Given the description of an element on the screen output the (x, y) to click on. 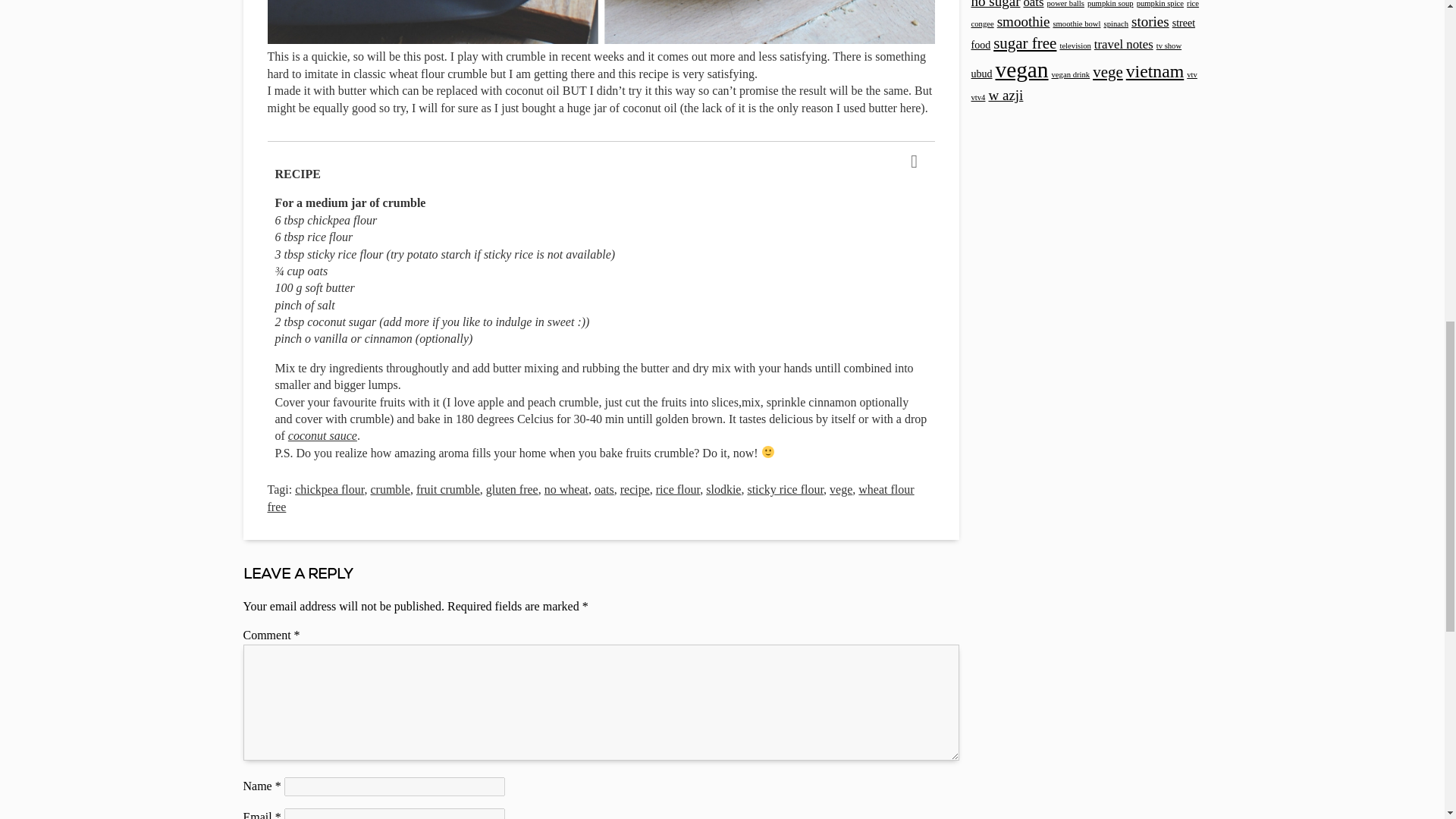
coconut sauce (322, 435)
slodkie (723, 489)
crumble (389, 489)
rice flour (678, 489)
no wheat (566, 489)
gluten free (512, 489)
sticky rice flour (785, 489)
oats (604, 489)
chickpea flour (329, 489)
fruit crumble (448, 489)
